Given the description of an element on the screen output the (x, y) to click on. 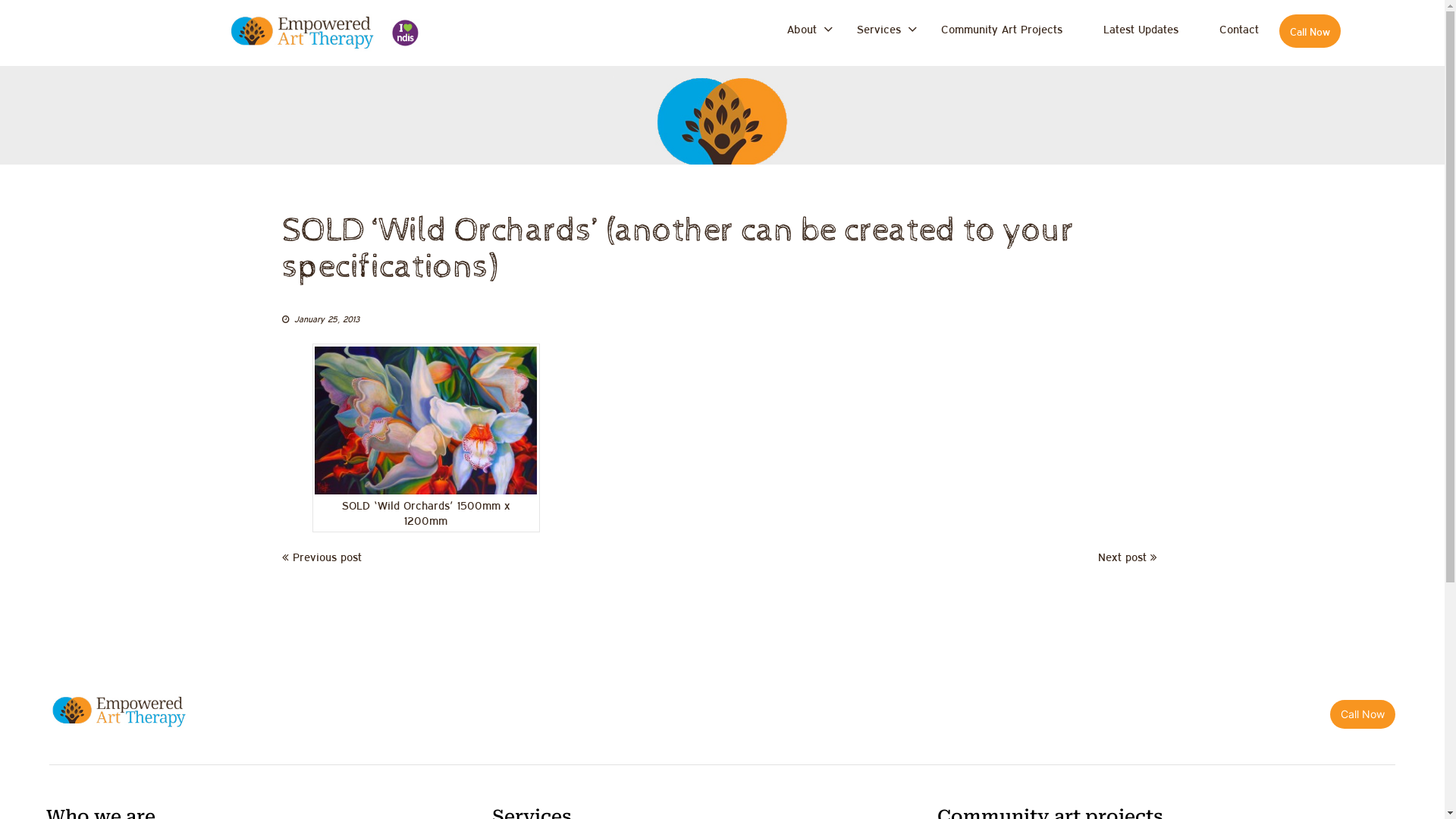
Call Now Element type: text (1362, 713)
January 25, 2013 Element type: text (326, 318)
Next post Element type: text (1127, 556)
Community Art Projects Element type: text (1001, 28)
Services Element type: text (878, 28)
Latest Updates Element type: text (1140, 28)
Previous post Element type: text (321, 556)
Call Now Element type: text (1309, 30)
About Element type: text (801, 28)
Contact Element type: text (1238, 28)
